Given the description of an element on the screen output the (x, y) to click on. 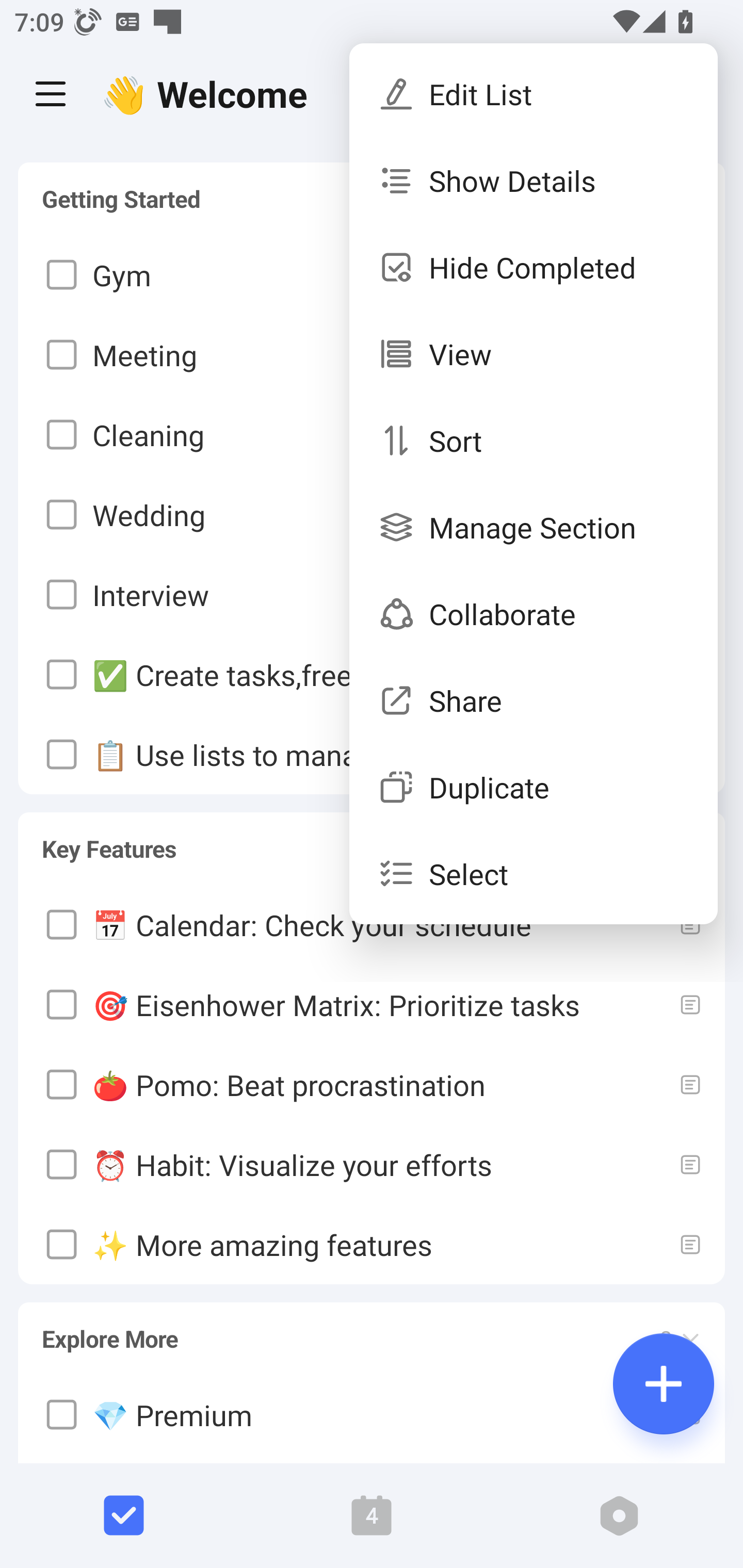
Edit List (533, 93)
Show Details (533, 180)
Hide Completed (533, 267)
View (533, 353)
Sort (533, 440)
Manage Section (533, 527)
Collaborate (533, 613)
Share (533, 699)
Duplicate (533, 787)
Select (533, 874)
